Given the description of an element on the screen output the (x, y) to click on. 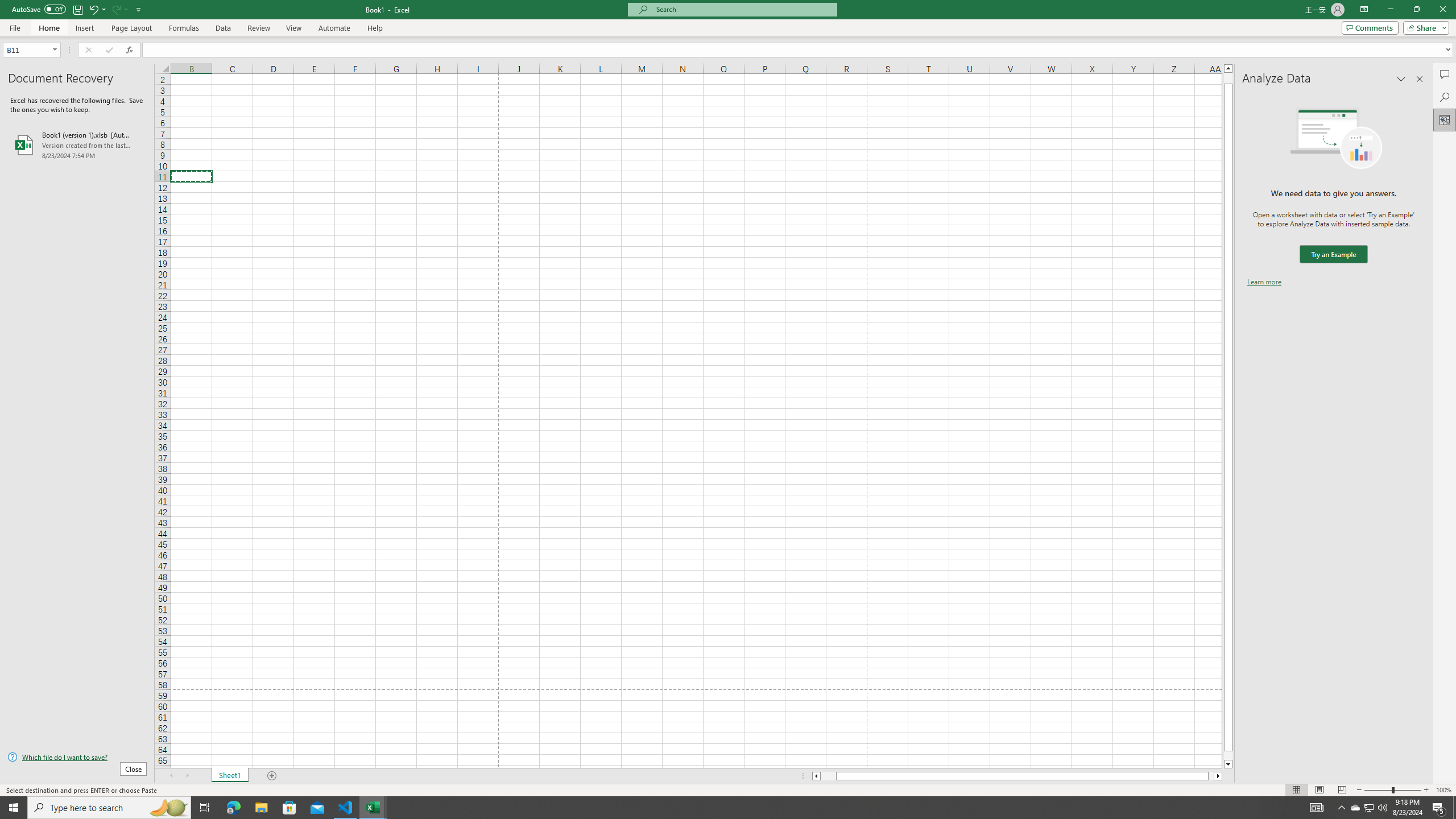
Learn more (1264, 281)
